Given the description of an element on the screen output the (x, y) to click on. 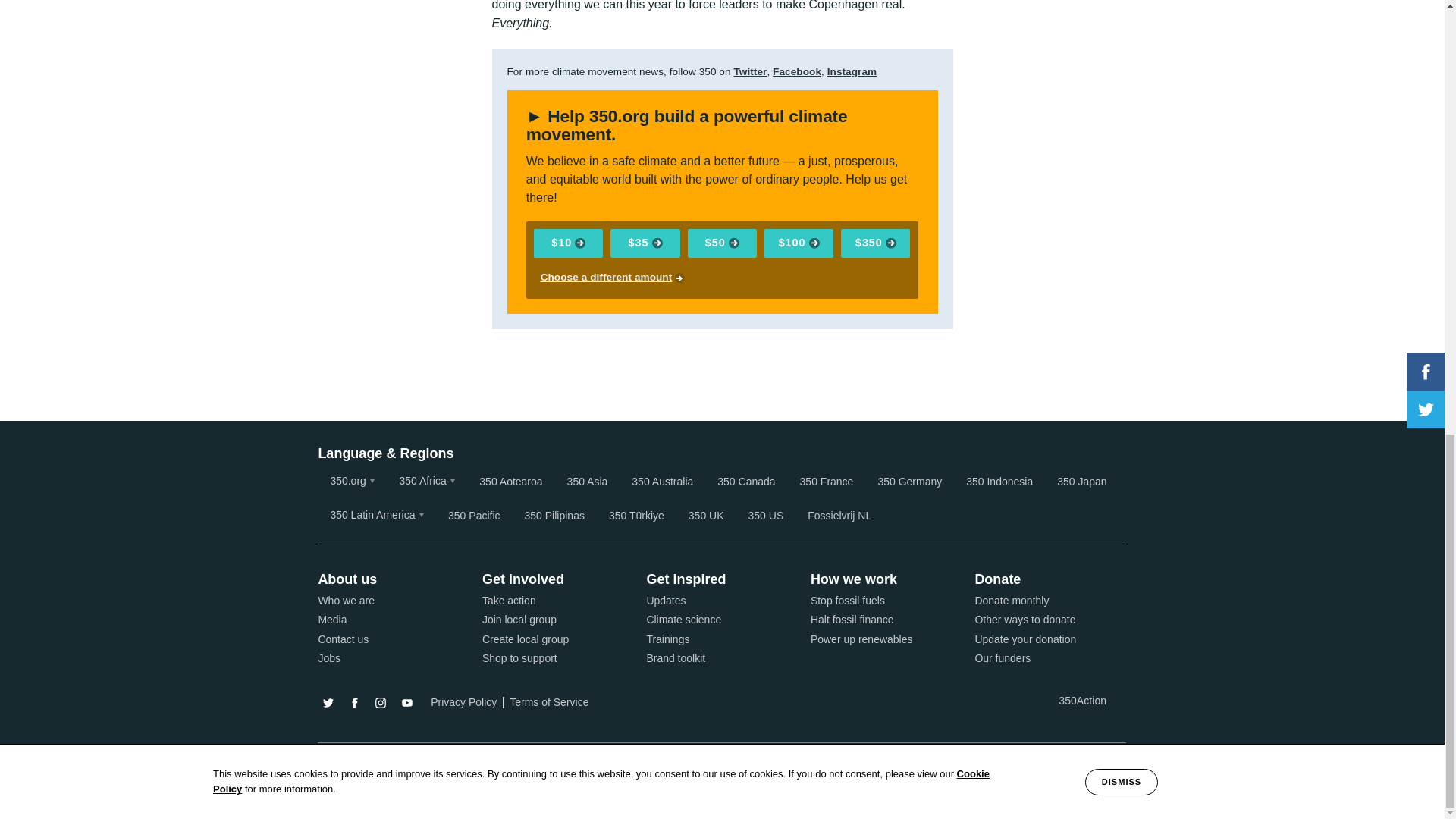
Instagram (852, 71)
Facebook (797, 71)
Twitter (750, 71)
